Given the description of an element on the screen output the (x, y) to click on. 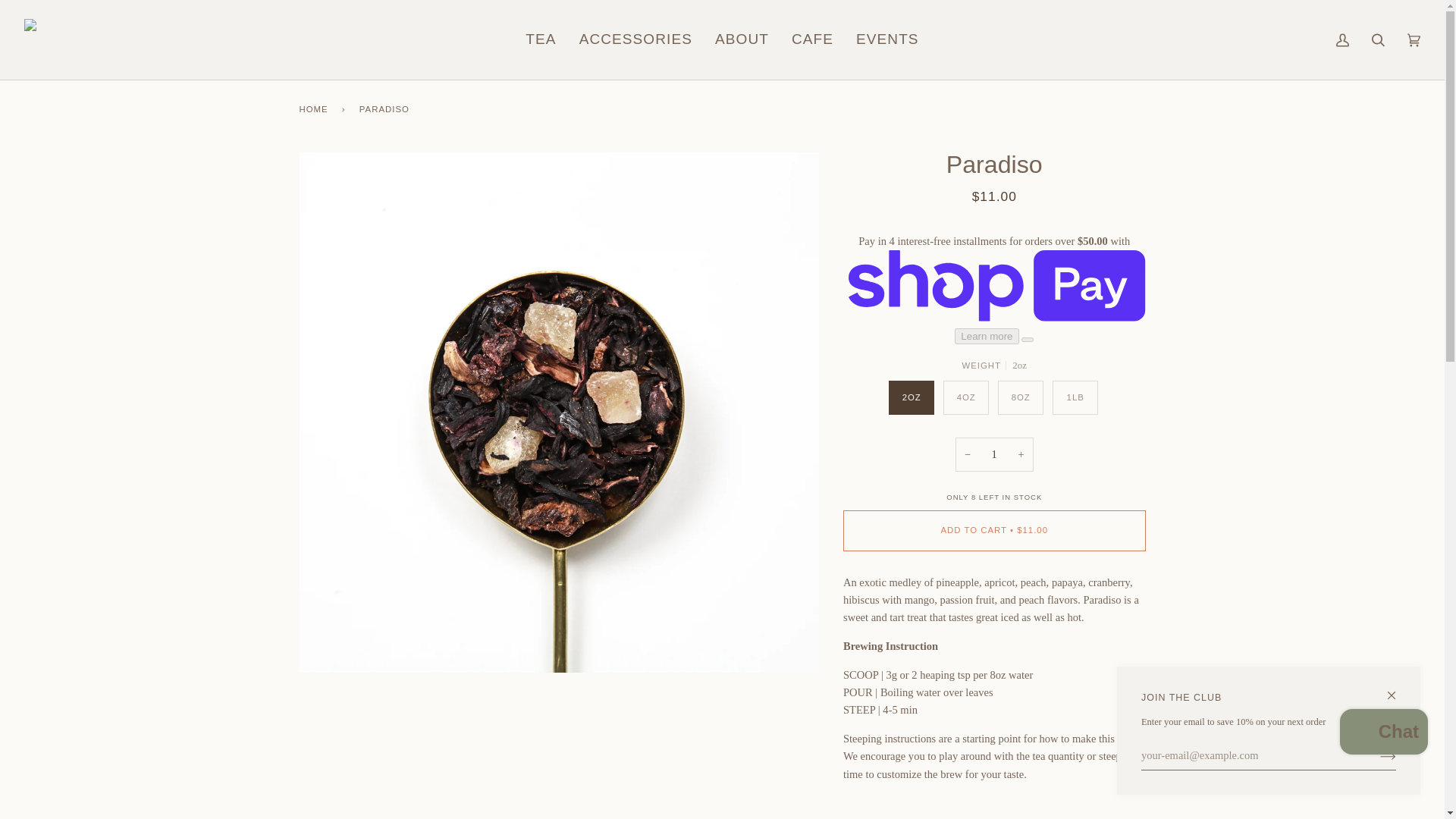
Back to the frontpage (315, 108)
Close (1398, 688)
1 (994, 454)
